Given the description of an element on the screen output the (x, y) to click on. 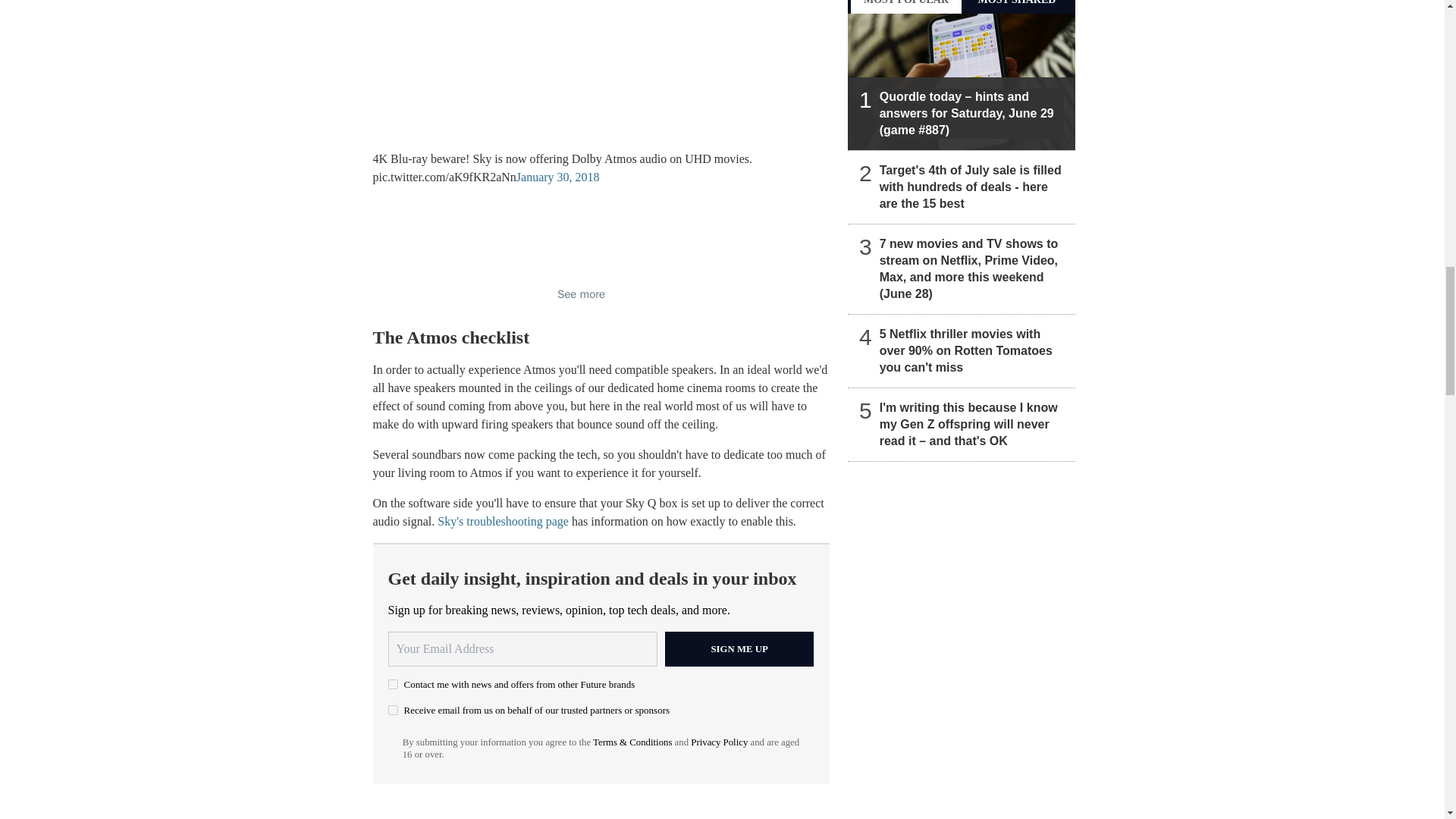
on (392, 684)
on (392, 709)
Sign me up (739, 648)
